Given the description of an element on the screen output the (x, y) to click on. 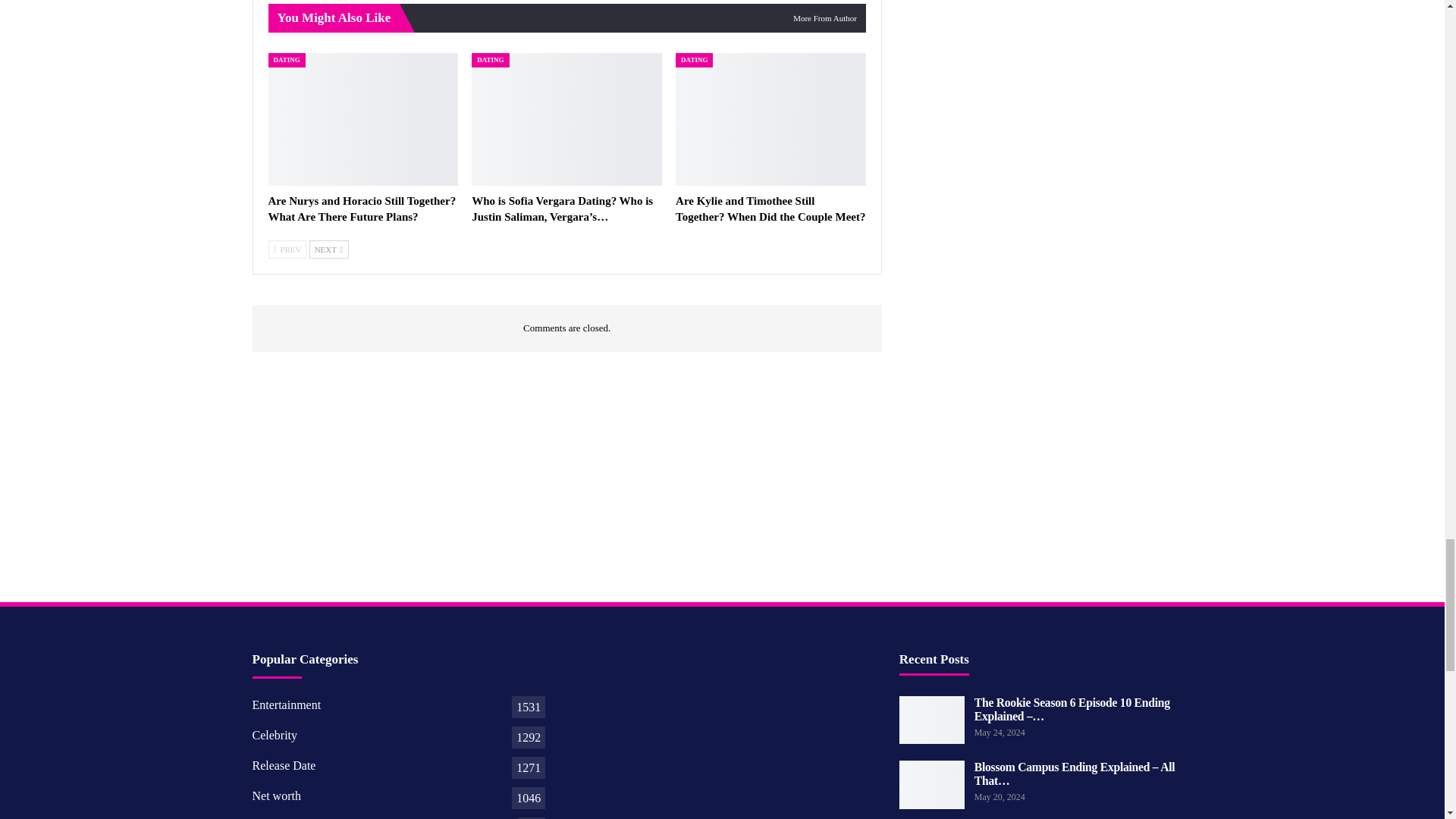
Next (328, 249)
Previous (287, 249)
